Given the description of an element on the screen output the (x, y) to click on. 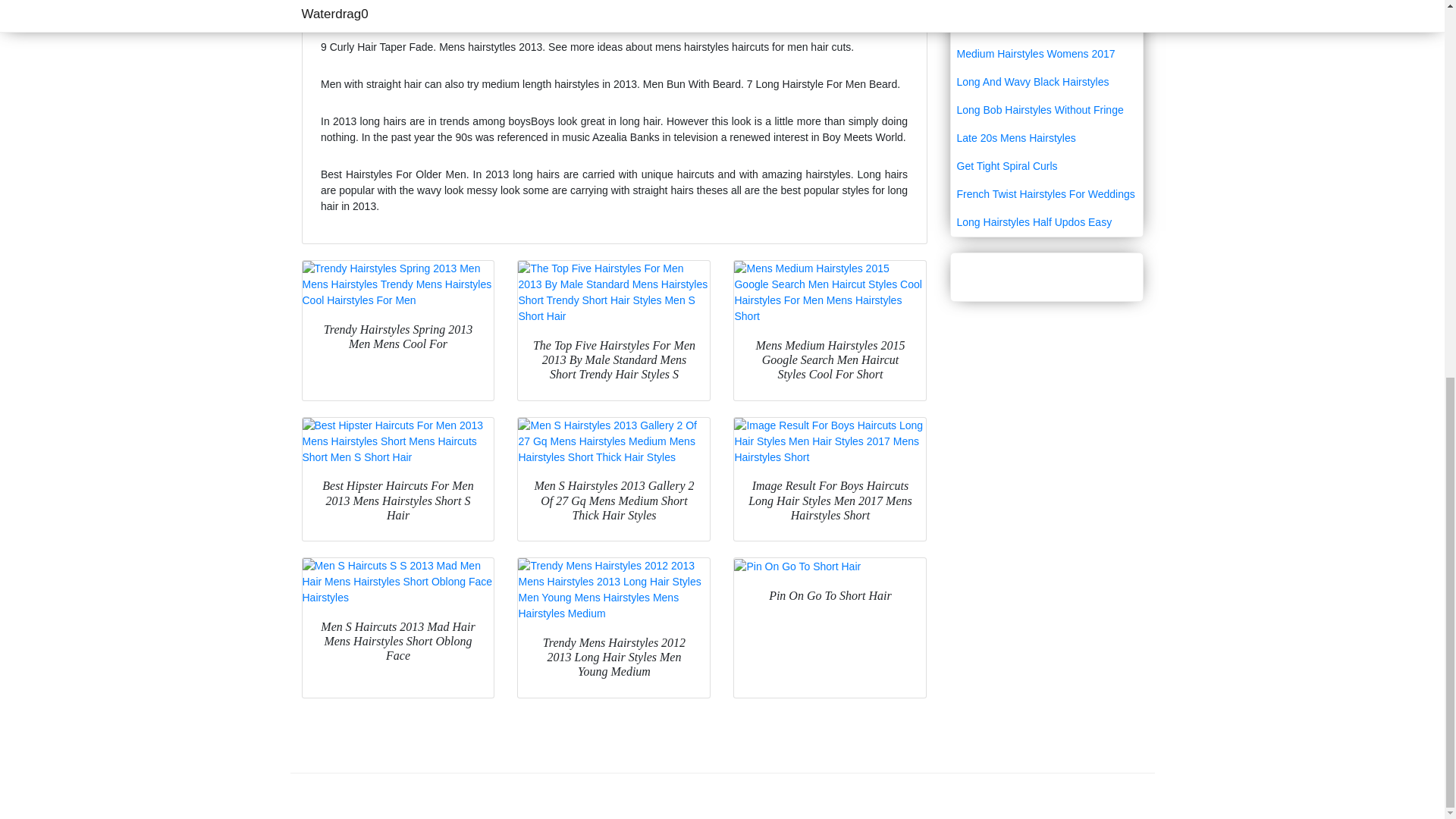
Medium Hairstyles Womens 2017 (1046, 53)
Medium Hairstyle With Layers And Side Bangs (1046, 20)
